Given the description of an element on the screen output the (x, y) to click on. 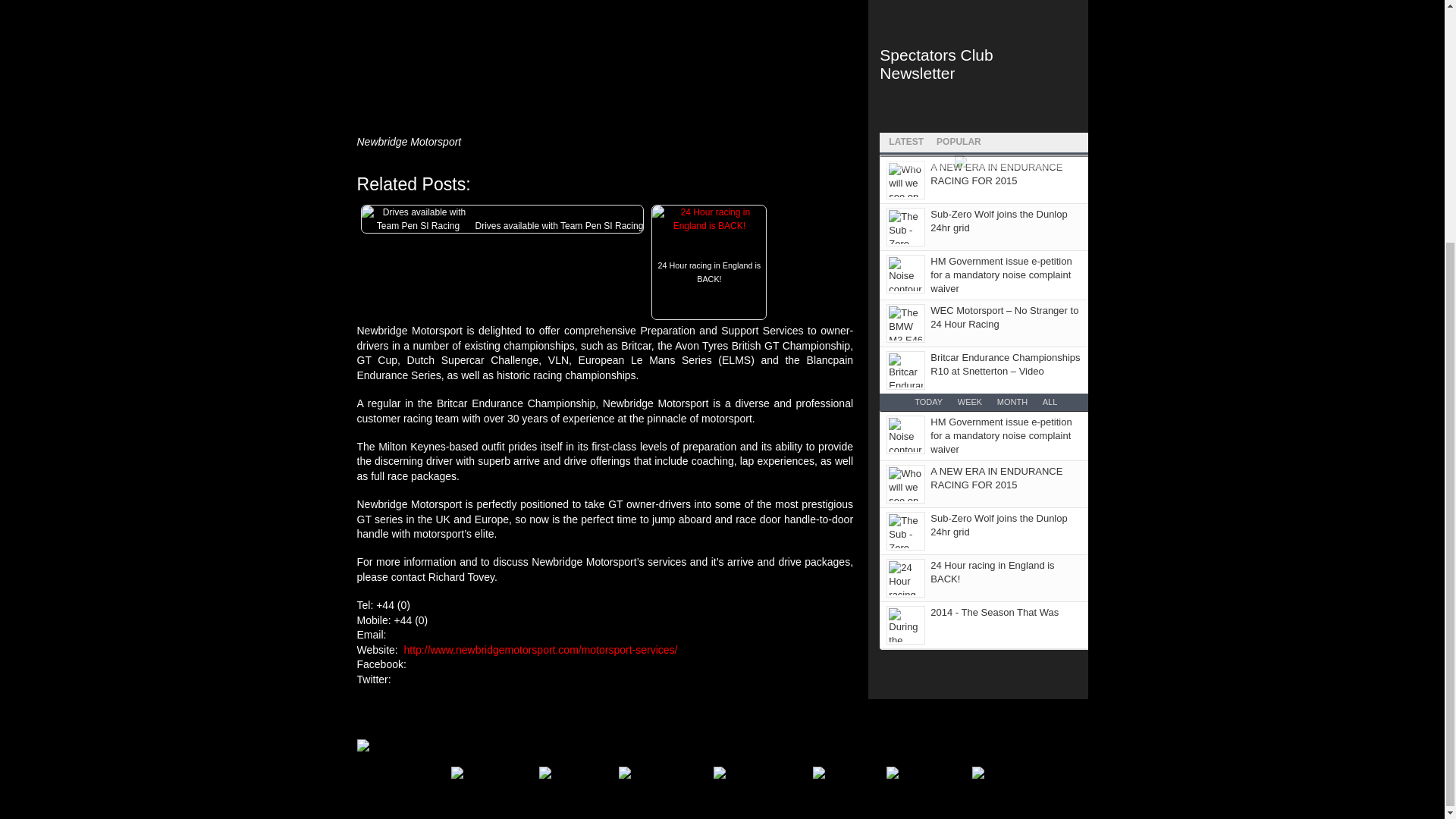
LATEST (905, 140)
ALL (1050, 401)
Drives available with Team Pen SI Racing (417, 218)
24 Hour racing in England is BACK! (708, 288)
MONTH (1012, 401)
A NEW ERA IN ENDURANCE RACING FOR 2015 (996, 478)
Sub-Zero Wolf joins the Dunlop 24hr grid (998, 220)
WEEK (969, 401)
